Given the description of an element on the screen output the (x, y) to click on. 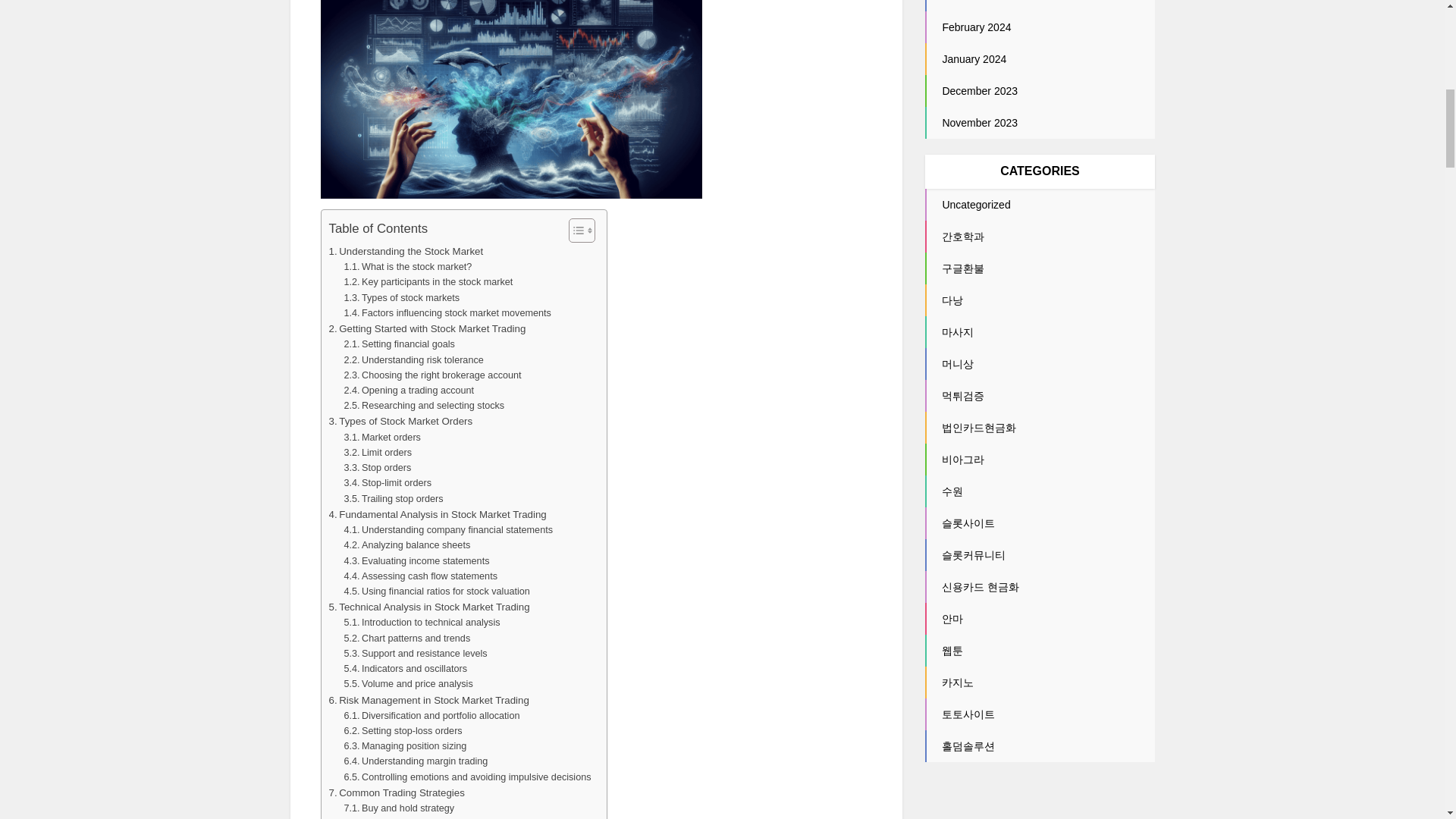
Using financial ratios for stock valuation (436, 590)
Assessing cash flow statements (420, 575)
Opening a trading account (408, 390)
Types of stock markets (401, 297)
Understanding risk tolerance (413, 359)
Understanding risk tolerance (413, 359)
Limit orders (377, 452)
Types of Stock Market Orders (401, 421)
Choosing the right brokerage account (432, 375)
The Art of Stock Market Trading (510, 99)
